Given the description of an element on the screen output the (x, y) to click on. 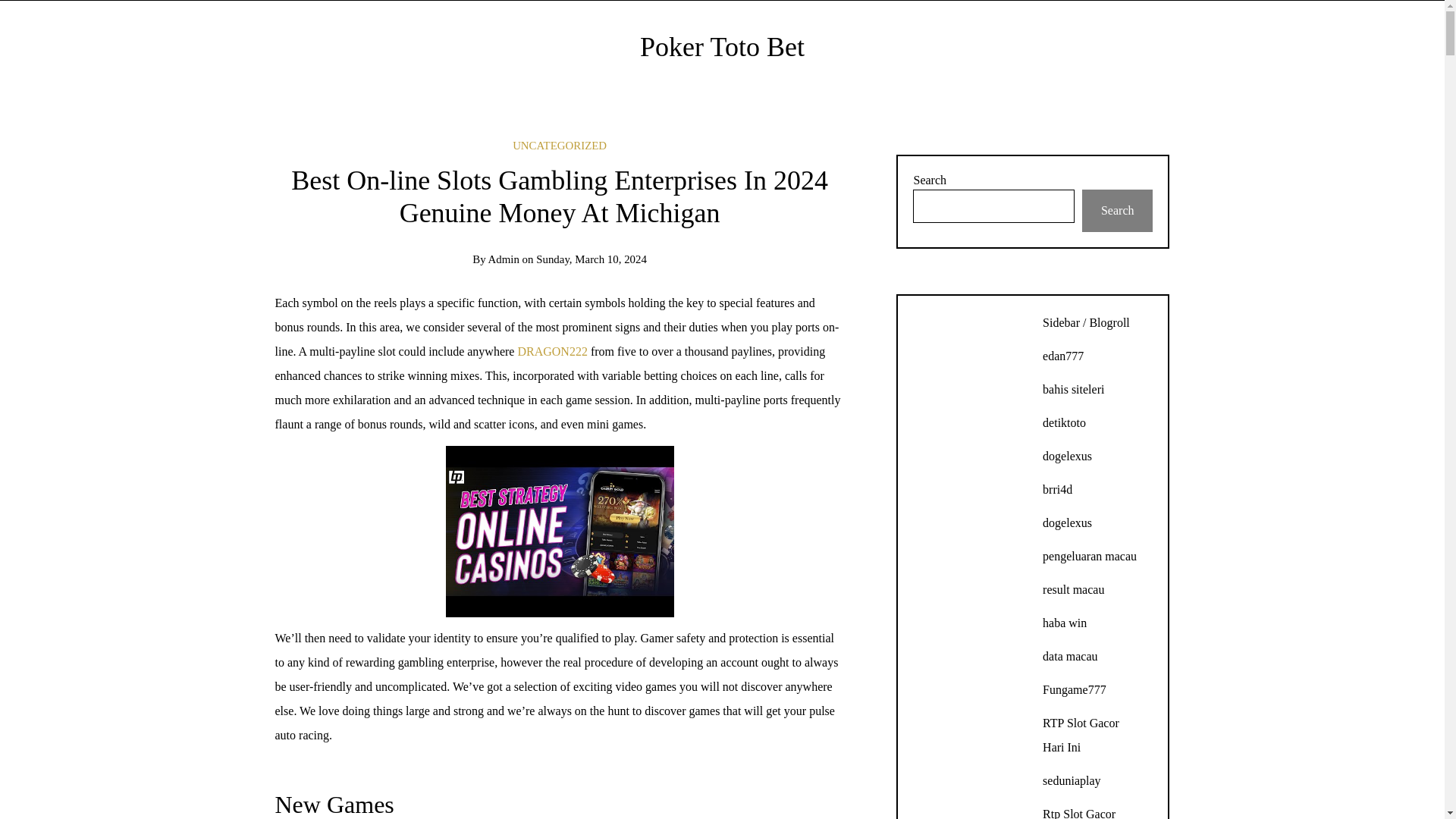
bahis siteleri (1072, 389)
Posts by admin (503, 259)
haba win (1064, 622)
Search (1117, 210)
result macau (1072, 589)
Fungame777 (1074, 689)
pengeluaran macau (1089, 555)
dogelexus (1067, 522)
UNCATEGORIZED (559, 145)
DRAGON222 (551, 350)
dogelexus (1067, 455)
detiktoto (1064, 422)
data macau (1069, 656)
Rtp Slot Gacor (1078, 813)
Poker Toto Bet (722, 46)
